Given the description of an element on the screen output the (x, y) to click on. 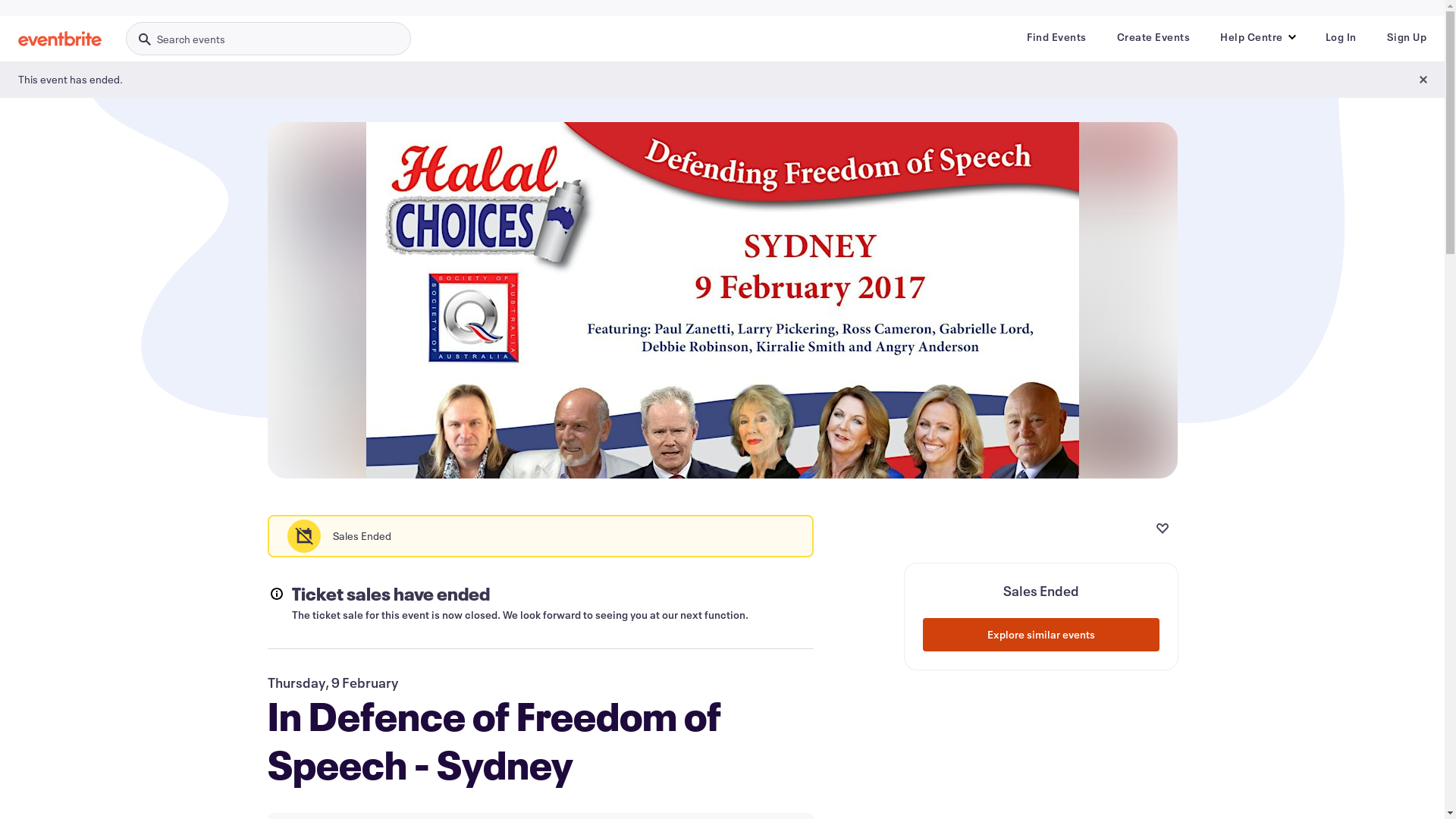
Find Events Element type: text (1056, 36)
Create Events Element type: text (1152, 36)
Explore similar events Element type: text (1040, 634)
Log In Element type: text (1340, 36)
Sign Up Element type: text (1406, 36)
Search events Element type: text (268, 38)
Eventbrite Element type: hover (59, 38)
